Given the description of an element on the screen output the (x, y) to click on. 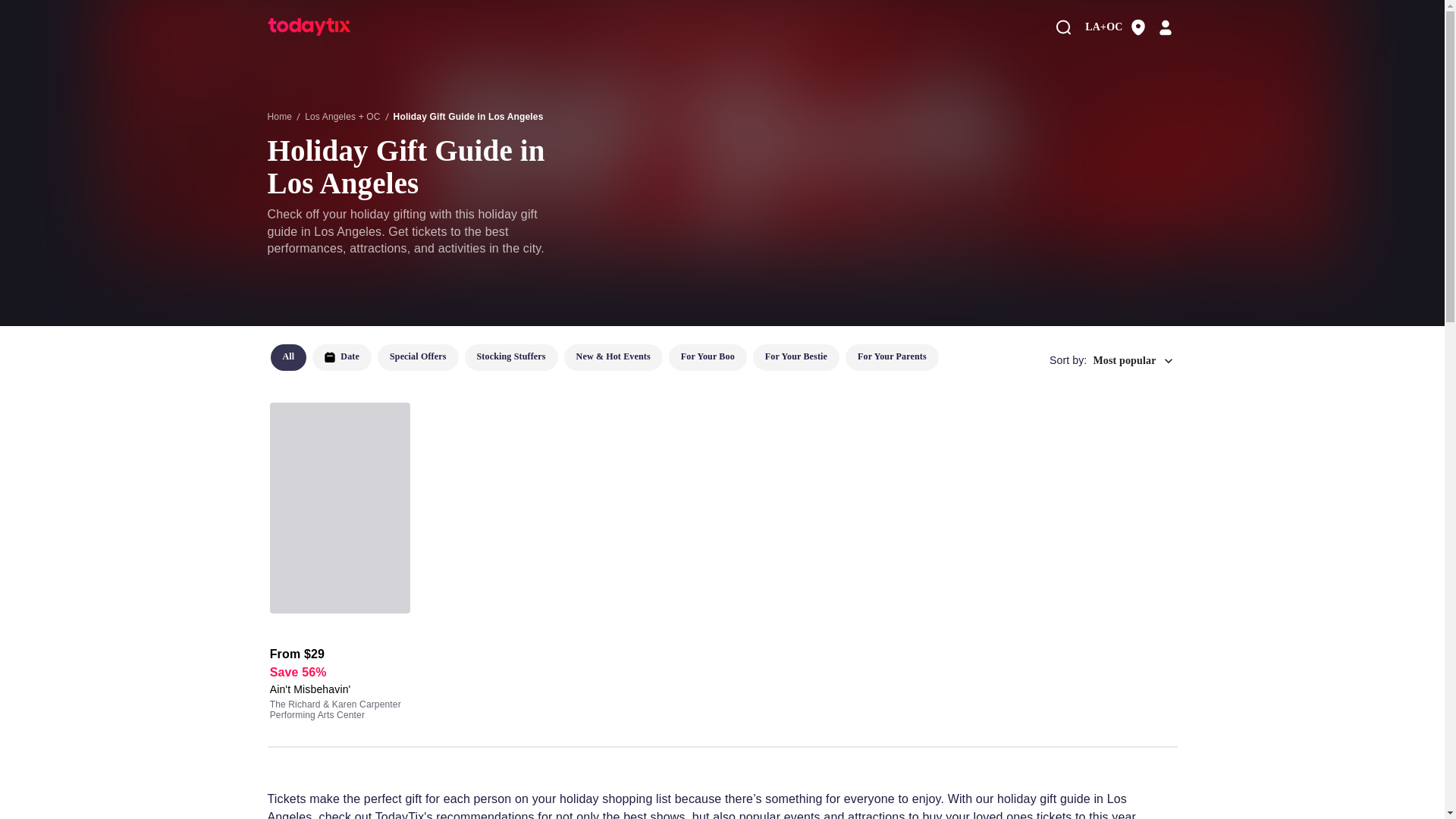
For Your Bestie (796, 357)
All (287, 357)
Stocking Stuffers (510, 357)
For Your Boo (707, 357)
Home (279, 116)
Holiday Gift Guide in Los Angeles (468, 116)
Special Offers (417, 357)
Date (342, 357)
For Your Parents (892, 357)
